Given the description of an element on the screen output the (x, y) to click on. 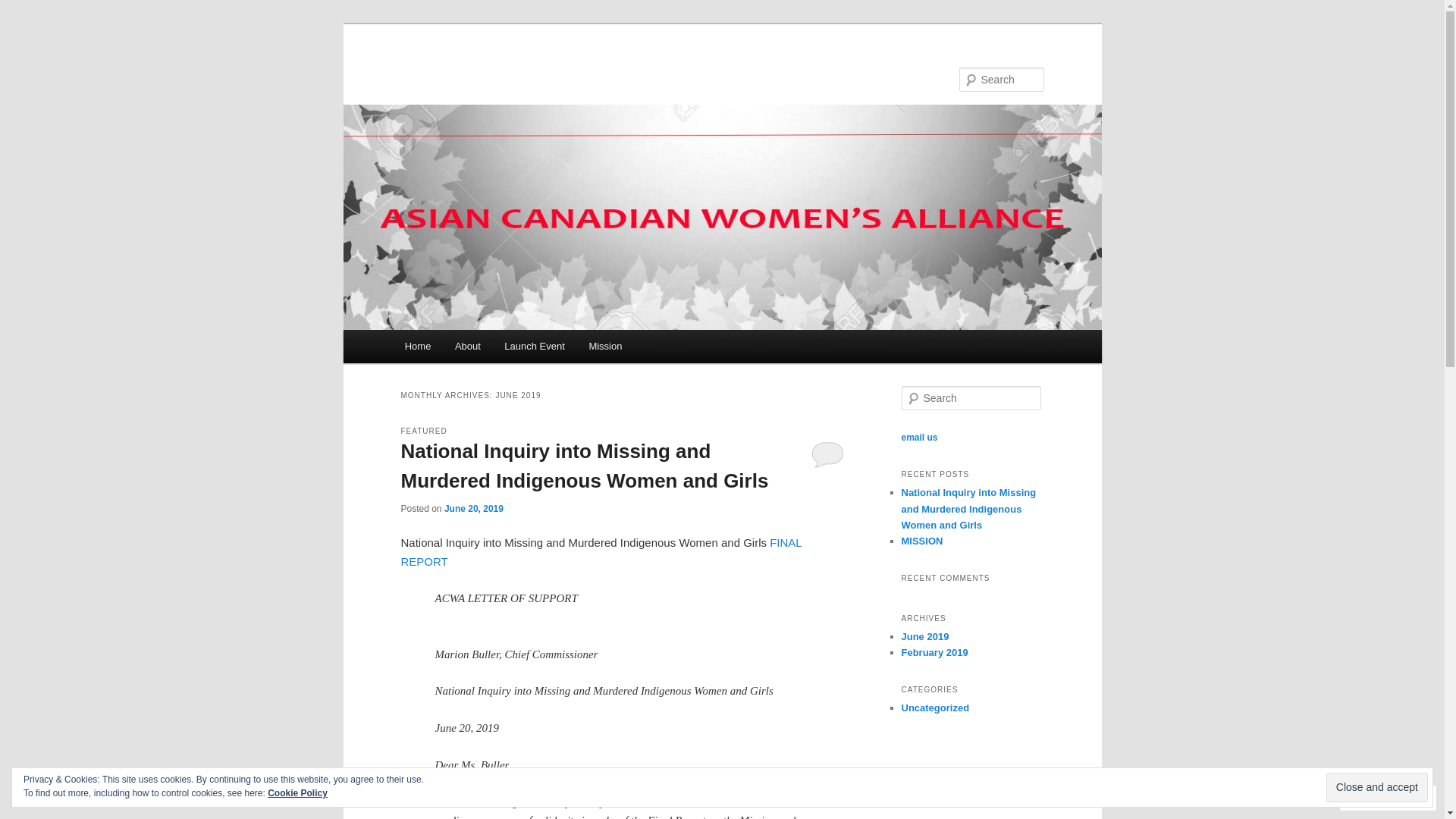
June 20, 2019 Element type: text (473, 508)
Uncategorized Element type: text (934, 707)
Search Element type: text (24, 8)
Launch Event Element type: text (534, 345)
Skip to primary content Element type: text (22, 22)
February 2019 Element type: text (933, 652)
MISSION Element type: text (921, 540)
Search Element type: text (20, 10)
Cookie Policy Element type: text (297, 792)
Follow Element type: text (1373, 797)
FINAL REPORT  Element type: text (600, 551)
email us Element type: text (918, 437)
Home Element type: text (417, 345)
Close and accept Element type: text (1376, 787)
June 2019 Element type: text (924, 636)
About Element type: text (467, 345)
Mission Element type: text (605, 345)
